Given the description of an element on the screen output the (x, y) to click on. 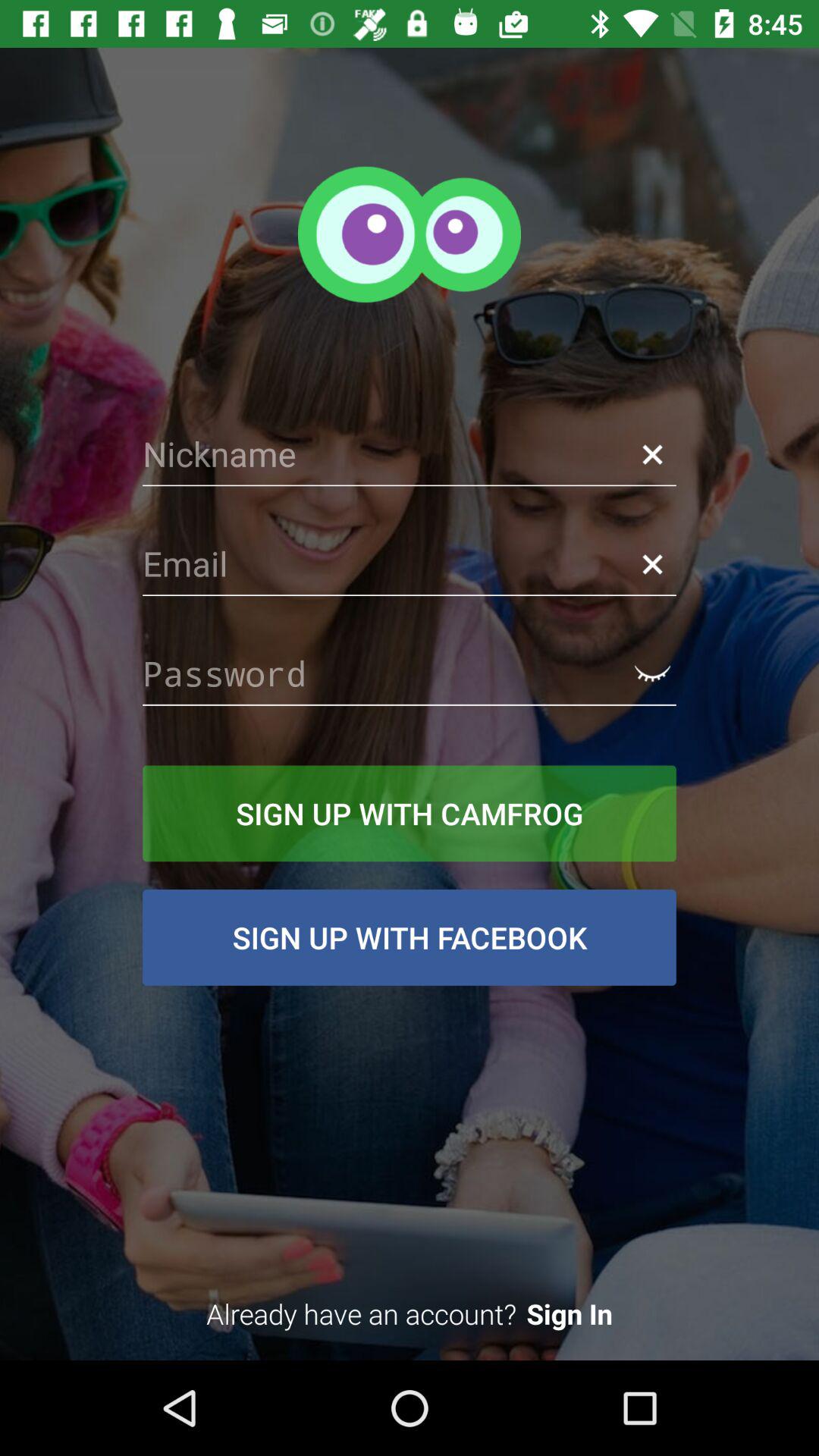
clear text (652, 564)
